Given the description of an element on the screen output the (x, y) to click on. 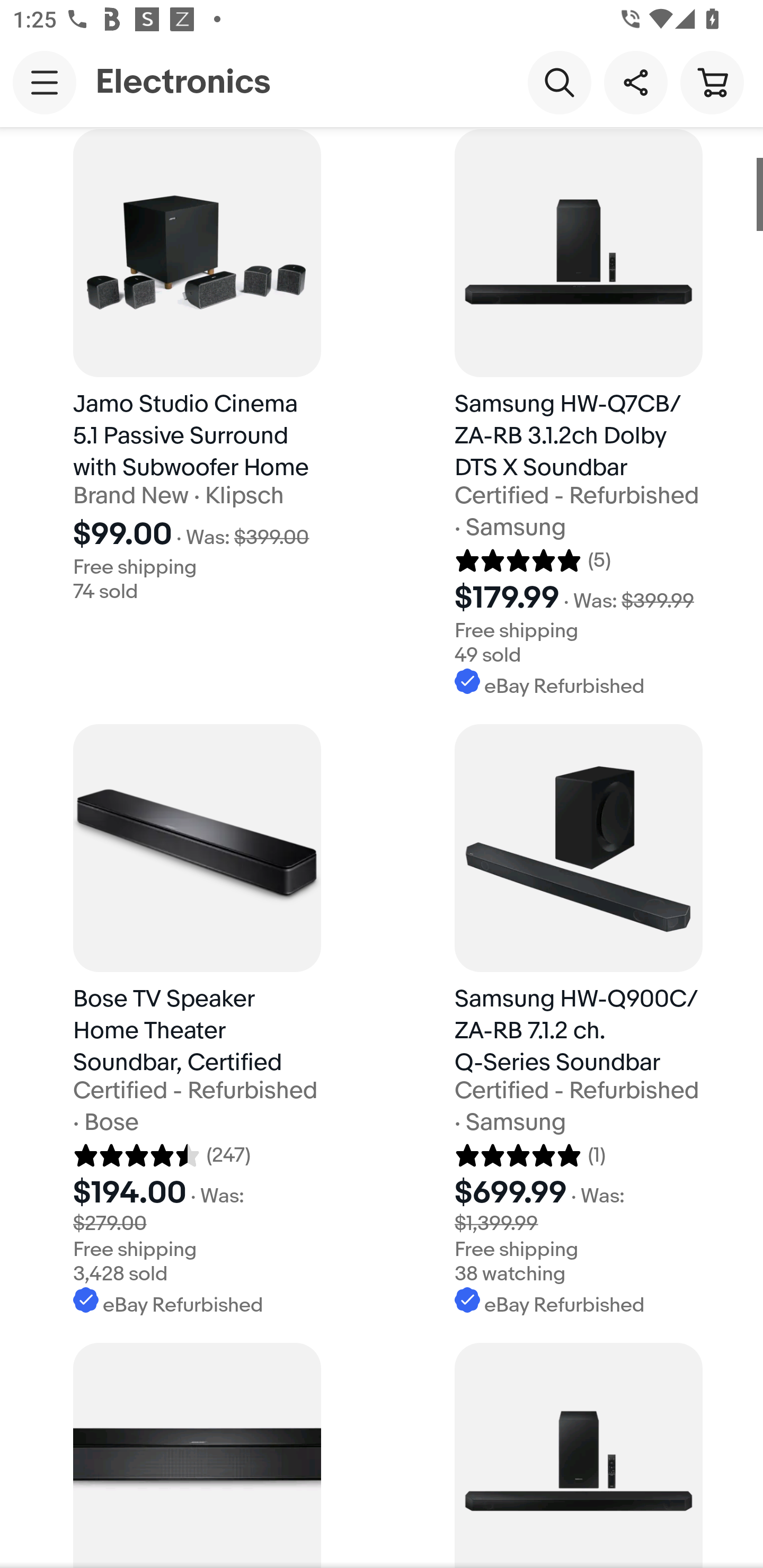
Main navigation, open (44, 82)
Search (559, 81)
Share this page (635, 81)
Cart button shopping cart (711, 81)
